Given the description of an element on the screen output the (x, y) to click on. 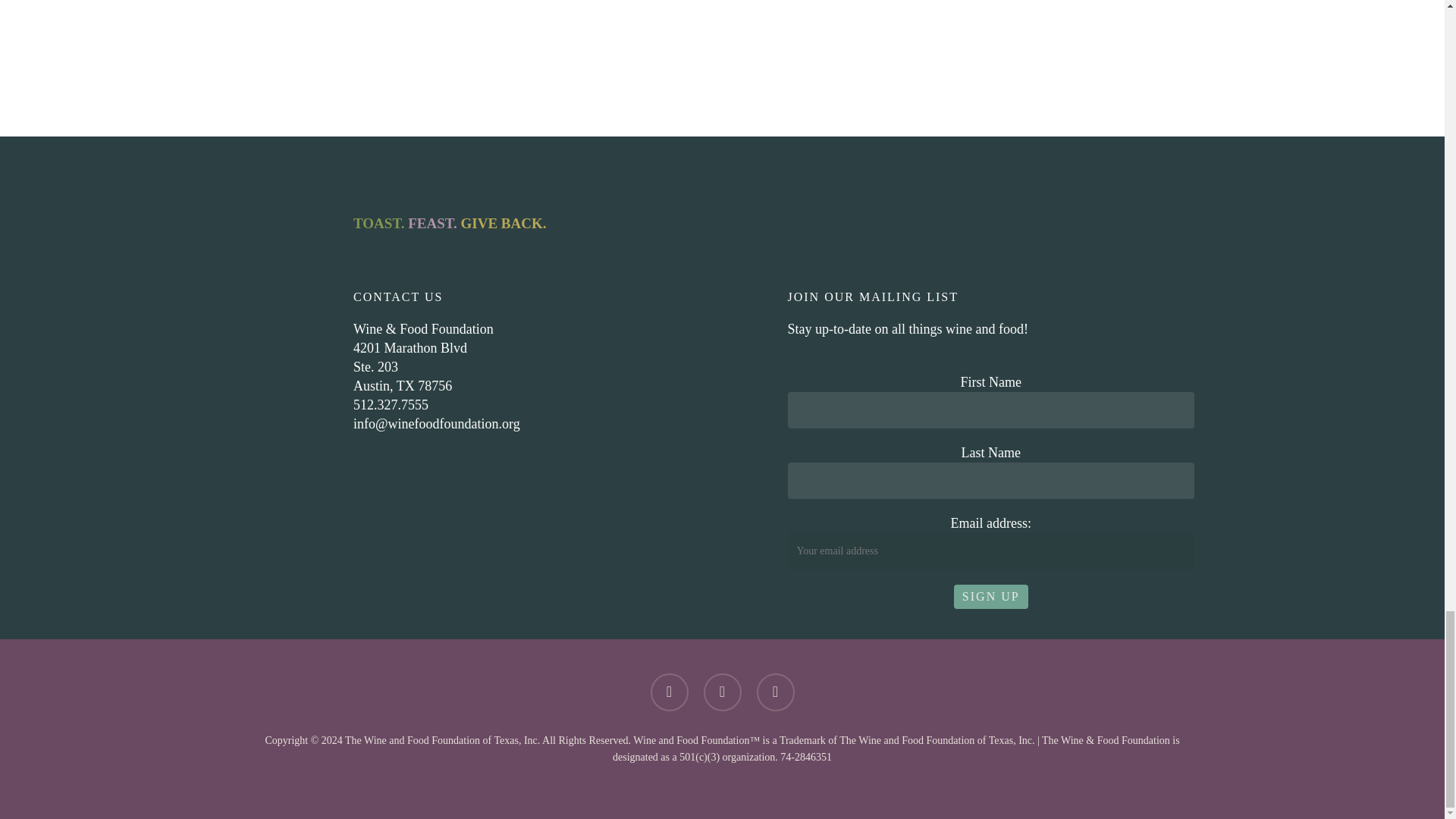
Sign up (990, 596)
Sign up (990, 596)
